Given the description of an element on the screen output the (x, y) to click on. 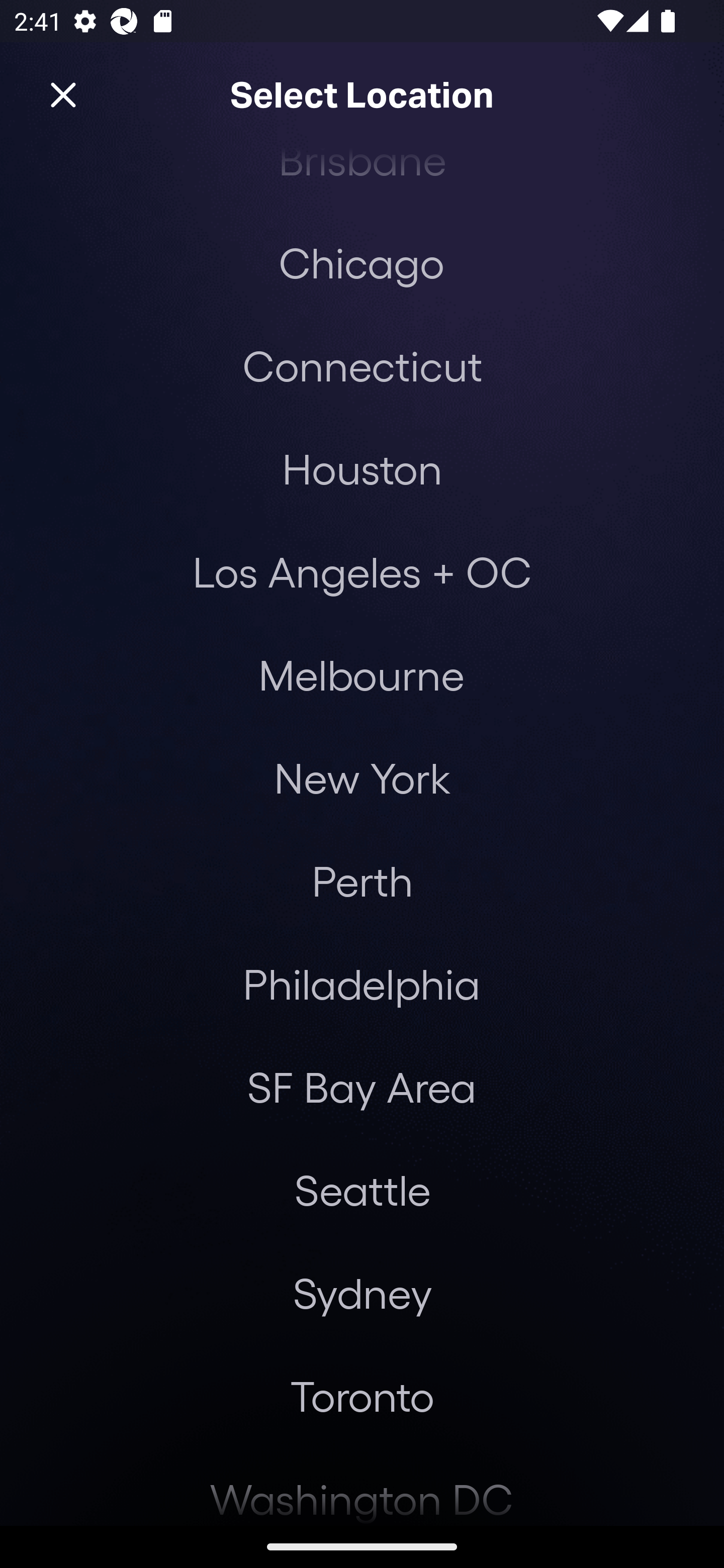
Close (62, 95)
Brisbane (361, 179)
Chicago (361, 262)
Connecticut (361, 365)
Houston (361, 468)
Los Angeles + OC (361, 571)
Melbourne (361, 673)
New York (361, 777)
Perth (361, 880)
Philadelphia (361, 983)
SF Bay Area (361, 1086)
Seattle (361, 1189)
Sydney (361, 1292)
Toronto (361, 1395)
Washington DC (361, 1486)
